Given the description of an element on the screen output the (x, y) to click on. 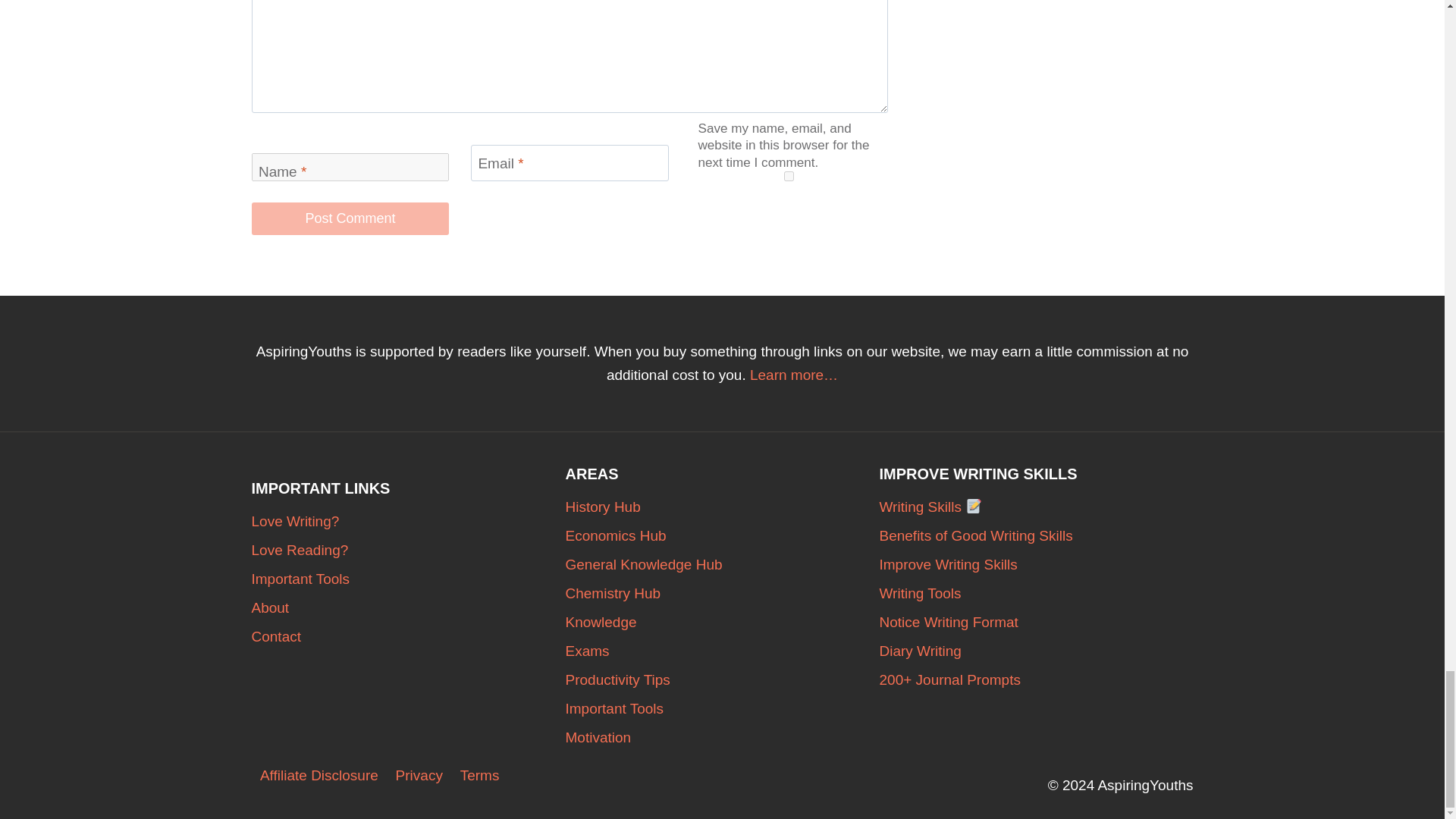
Chemistry Hub (722, 593)
Economics Hub (722, 535)
Important Tools (408, 579)
Exams (722, 651)
History Hub (722, 507)
General Knowledge Hub (722, 564)
Love Reading? (408, 550)
Post Comment (350, 218)
Love Writing? (408, 521)
Knowledge (722, 622)
About (408, 607)
Contact (408, 636)
yes (789, 175)
Post Comment (350, 218)
